Given the description of an element on the screen output the (x, y) to click on. 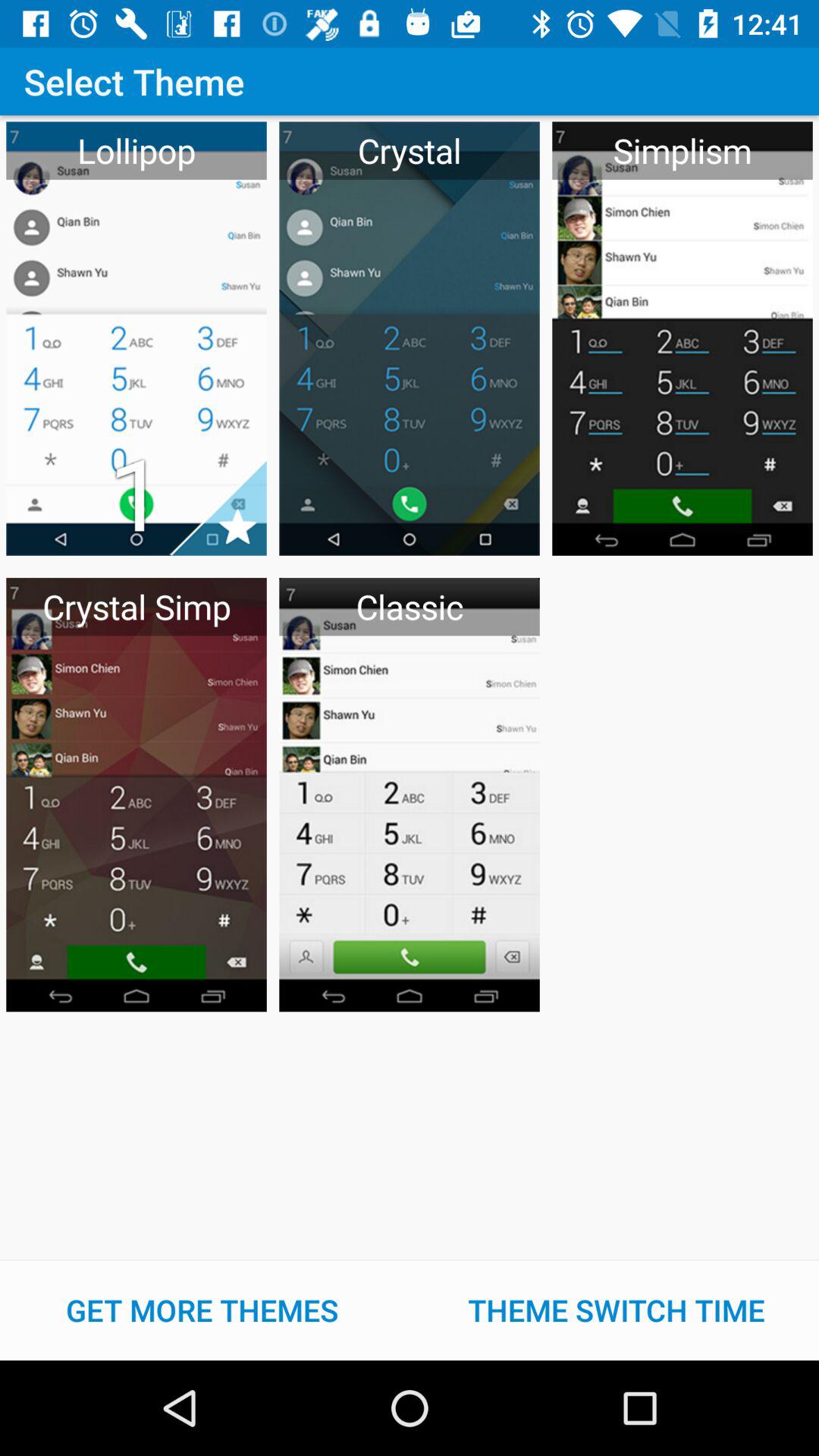
turn off button at the bottom left corner (202, 1310)
